Given the description of an element on the screen output the (x, y) to click on. 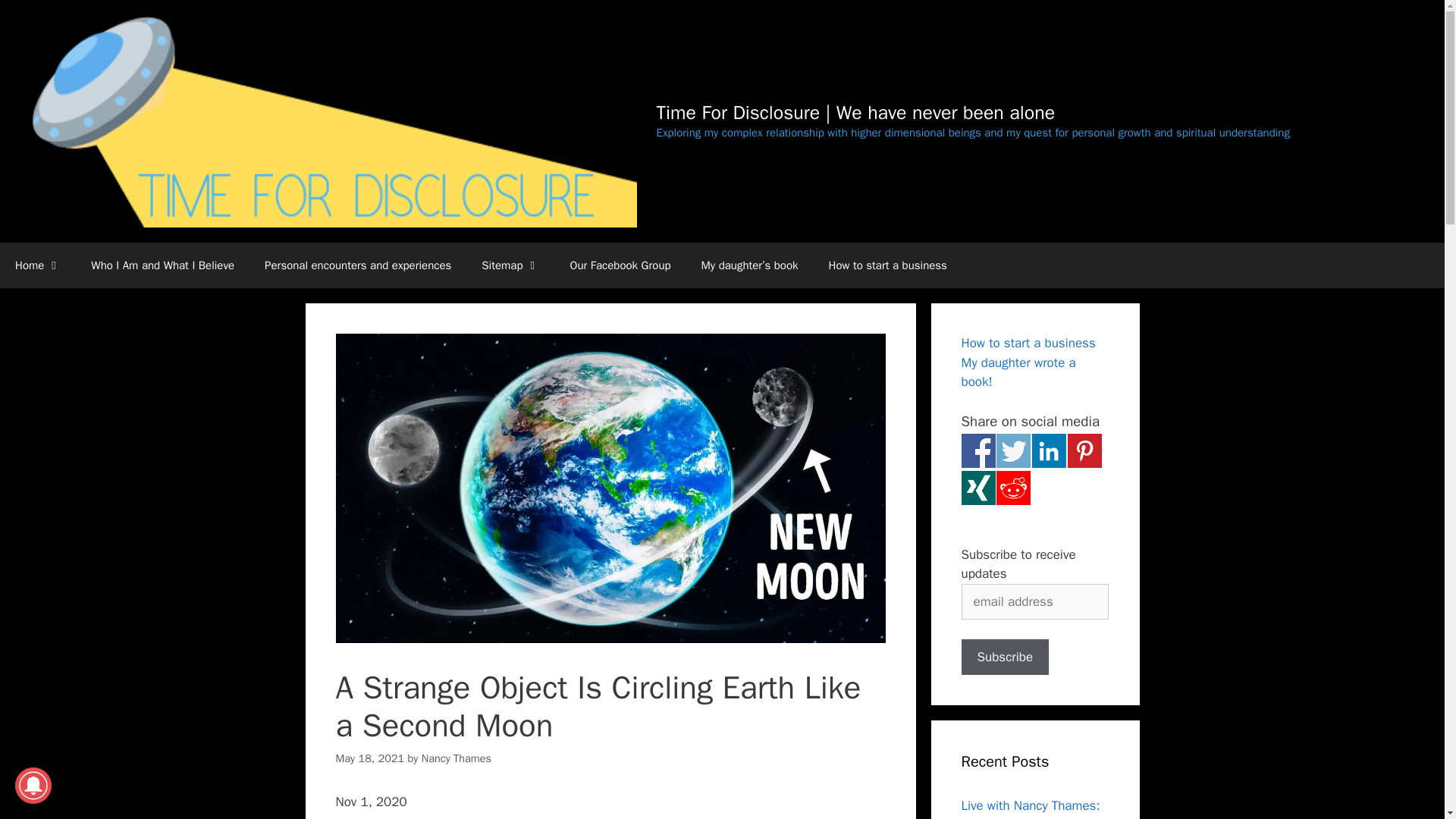
Who I Am and What I Believe (161, 265)
Our Facebook Group (619, 265)
View all posts by Nancy Thames (457, 757)
Nancy Thames (457, 757)
How to start a business (887, 265)
Home (37, 265)
Personal encounters and experiences (356, 265)
Subscribe (1004, 657)
Sitemap (509, 265)
